Given the description of an element on the screen output the (x, y) to click on. 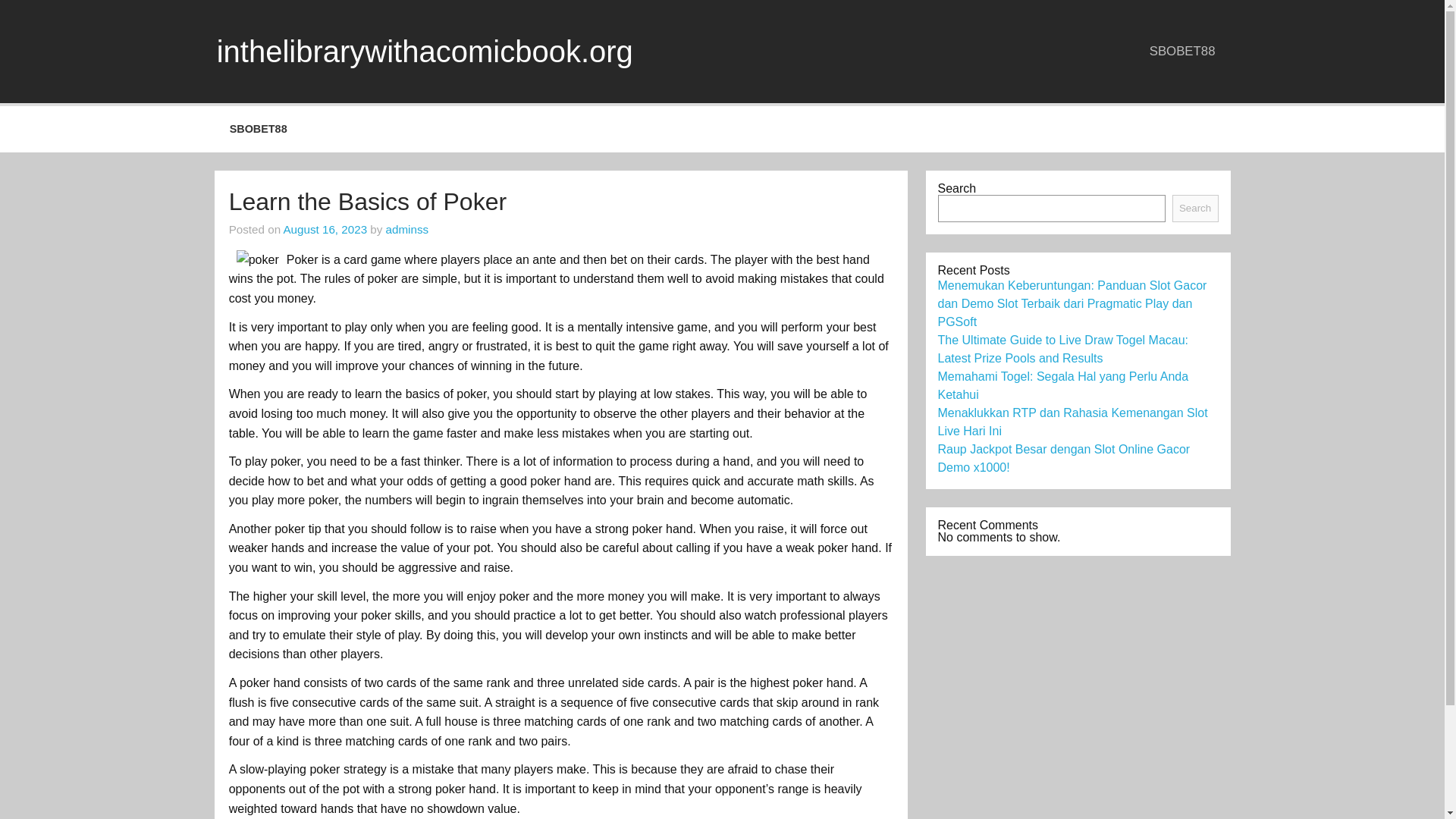
August 16, 2023 (324, 228)
Raup Jackpot Besar dengan Slot Online Gacor Demo x1000! (1063, 458)
SBOBET88 (1182, 51)
inthelibrarywithacomicbook.org (424, 51)
SBOBET88 (257, 128)
Memahami Togel: Segala Hal yang Perlu Anda Ketahui (1062, 385)
adminss (407, 228)
12:25 pm (324, 228)
Search (1195, 207)
Menaklukkan RTP dan Rahasia Kemenangan Slot Live Hari Ini (1072, 421)
View all posts by adminss (407, 228)
